Given the description of an element on the screen output the (x, y) to click on. 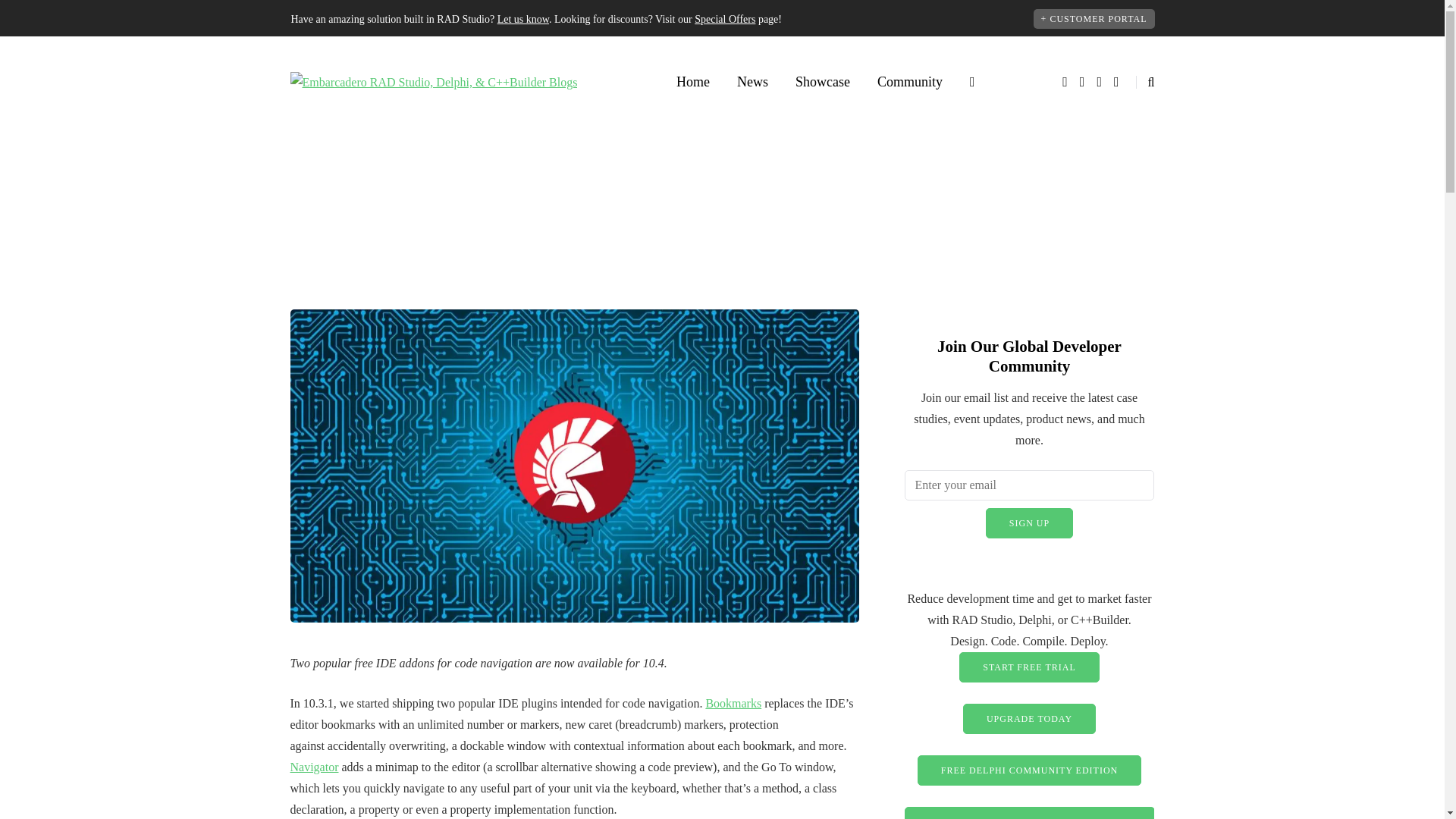
Showcase (822, 81)
Special Offers (724, 19)
Home (692, 81)
Let us know (522, 19)
Search (43, 15)
News (752, 81)
Community (909, 81)
